Given the description of an element on the screen output the (x, y) to click on. 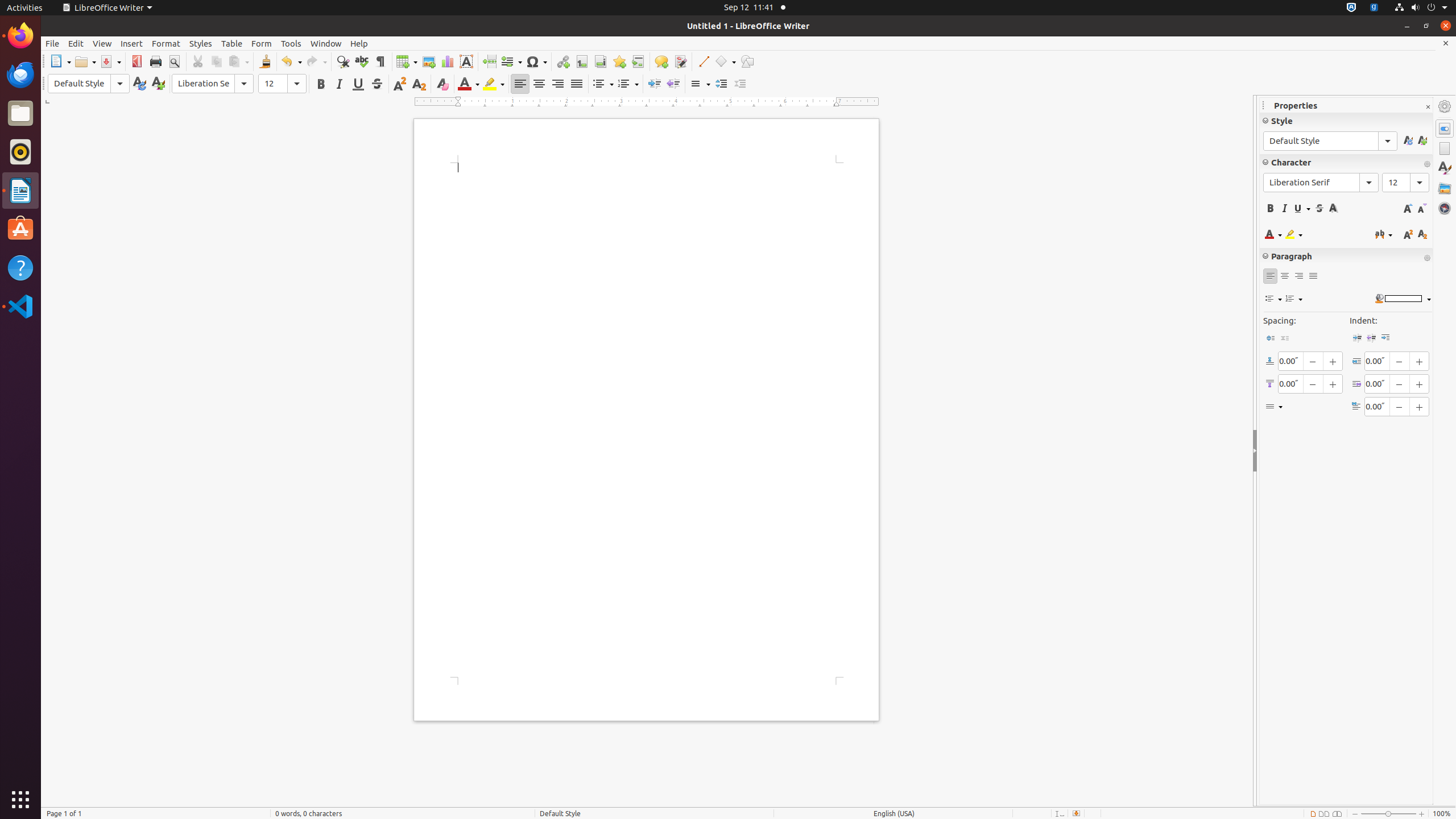
Center Element type: toggle-button (538, 83)
Undo Element type: push-button (290, 61)
Footnote Element type: push-button (581, 61)
Formatting Marks Element type: toggle-button (379, 61)
Rhythmbox Element type: push-button (20, 151)
